Given the description of an element on the screen output the (x, y) to click on. 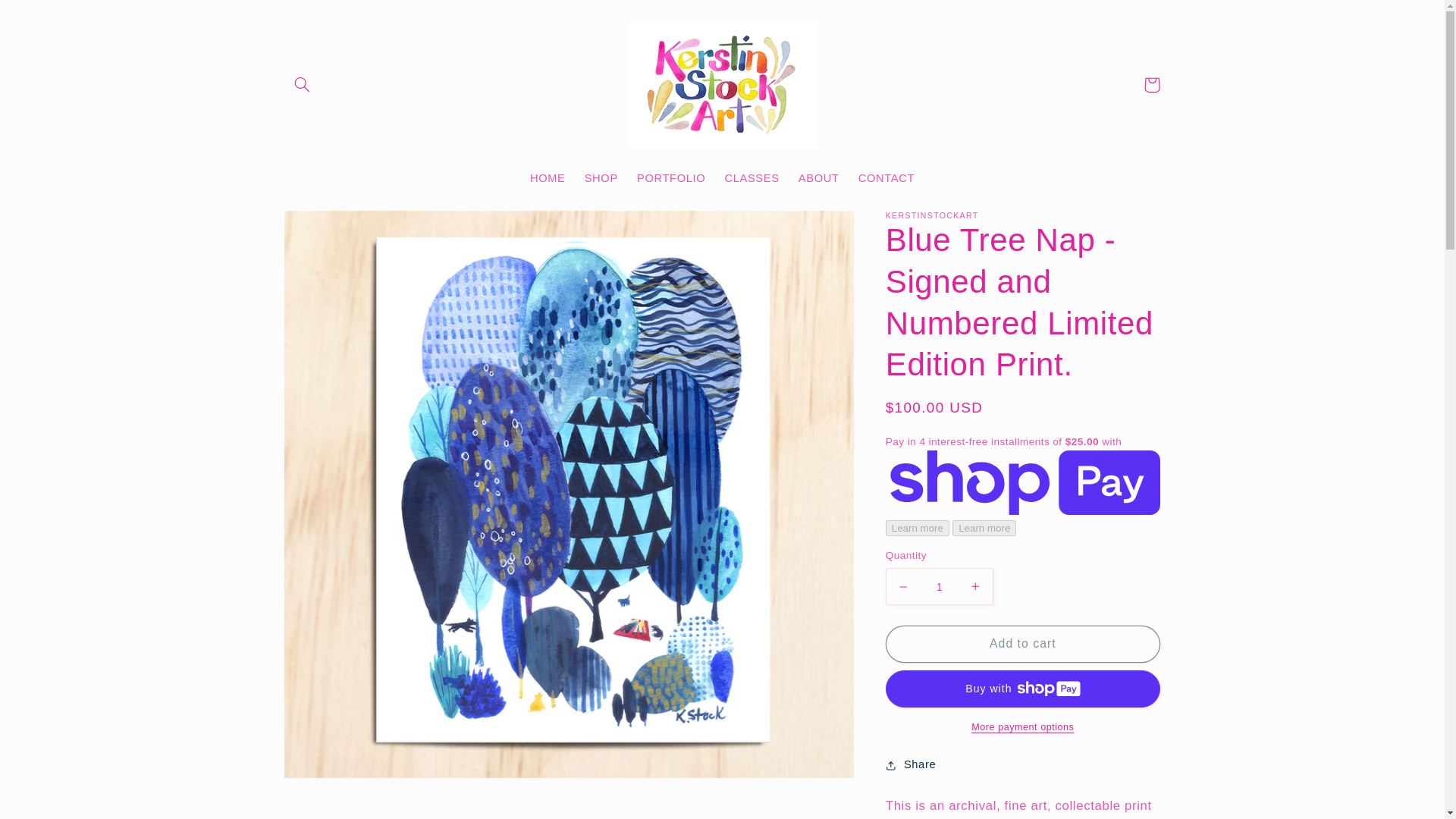
SHOP (601, 178)
Cart (1151, 84)
PORTFOLIO (670, 178)
CONTACT (886, 178)
1 (939, 586)
ABOUT (818, 178)
HOME (547, 178)
Add to cart (1022, 643)
CLASSES (751, 178)
